Given the description of an element on the screen output the (x, y) to click on. 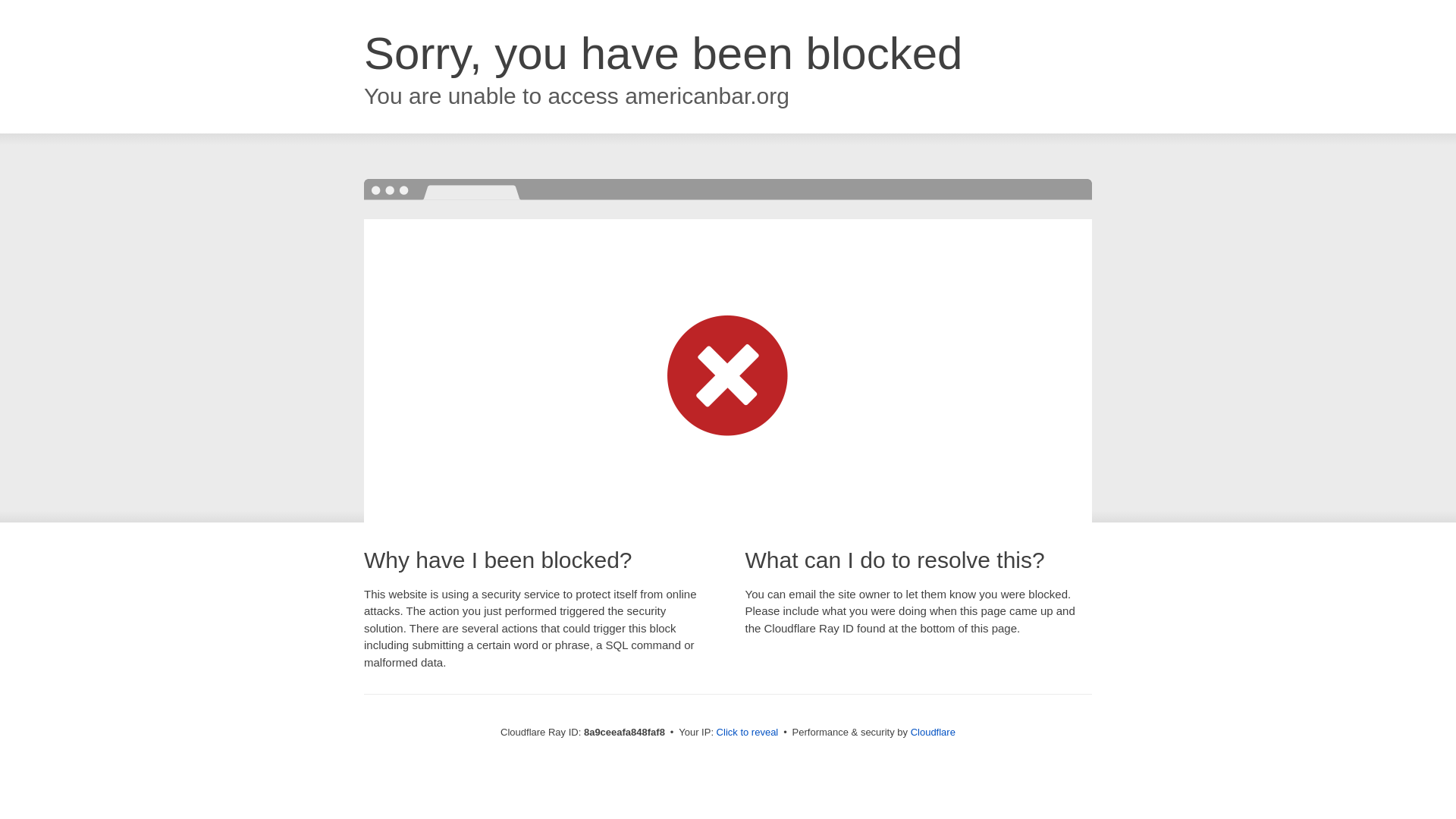
Click to reveal (747, 732)
Cloudflare (933, 731)
